Given the description of an element on the screen output the (x, y) to click on. 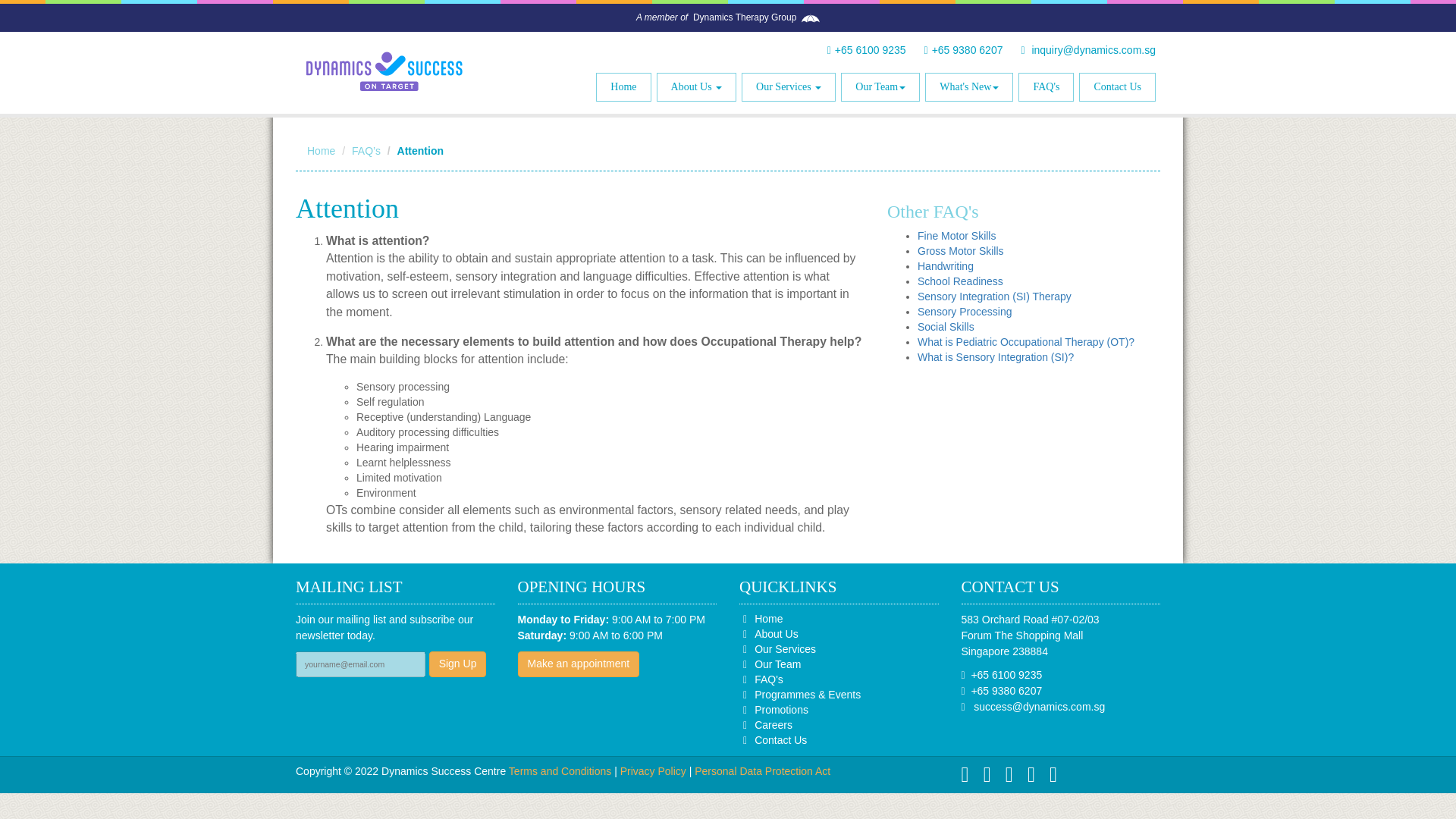
Facebook (1058, 777)
About Us (696, 86)
YouTube (969, 777)
Pinterest (993, 777)
LinkedIn (1015, 777)
What's New (968, 86)
Instagram (1036, 777)
Our Services (788, 86)
Contact Us (1117, 86)
Fine Motor Skills (956, 235)
Home (622, 86)
Dynamics Therapy Group (744, 17)
Our Team (880, 86)
Home (320, 150)
FAQ's (1045, 86)
